Given the description of an element on the screen output the (x, y) to click on. 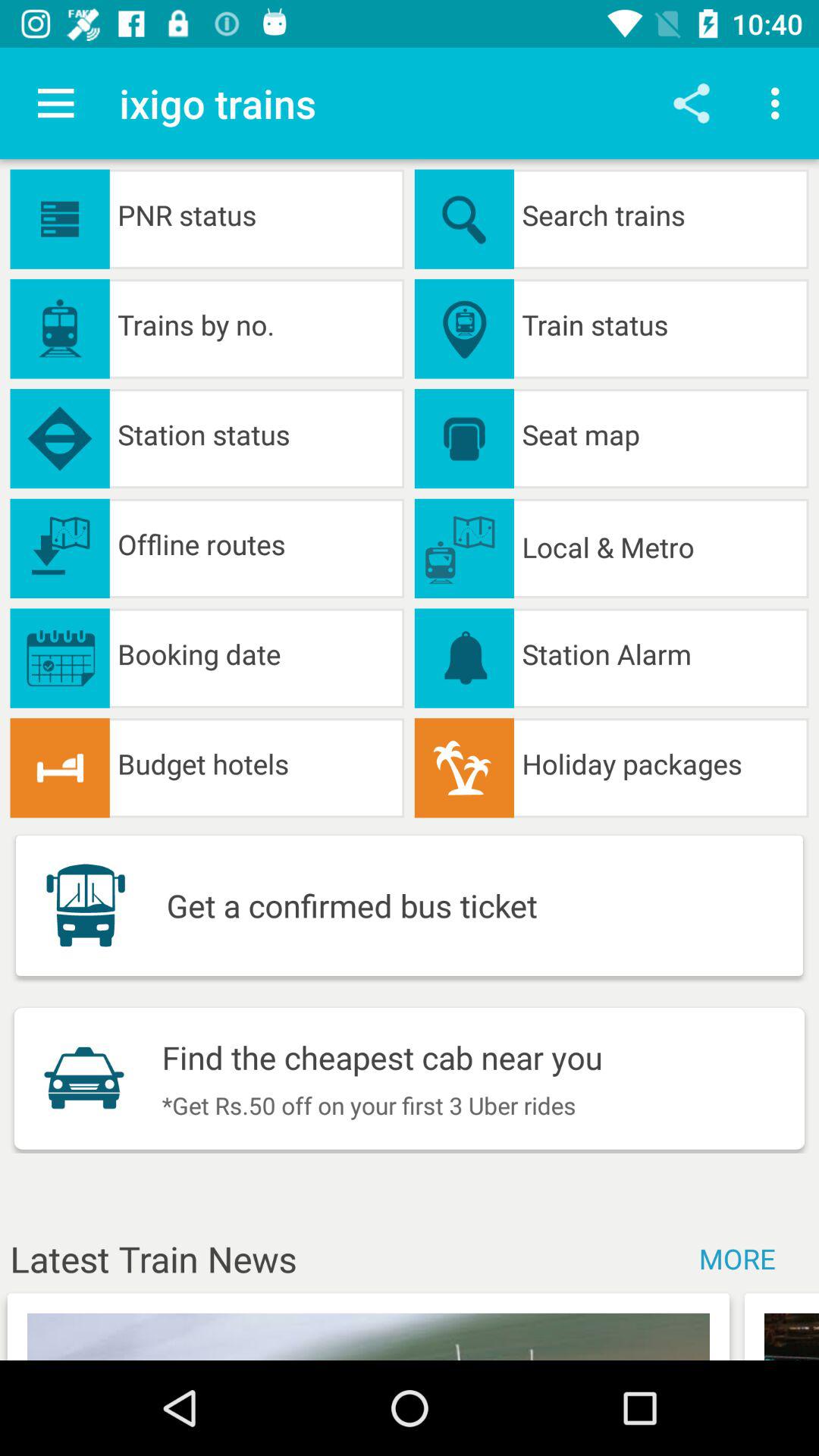
open icon above search trains (779, 103)
